Given the description of an element on the screen output the (x, y) to click on. 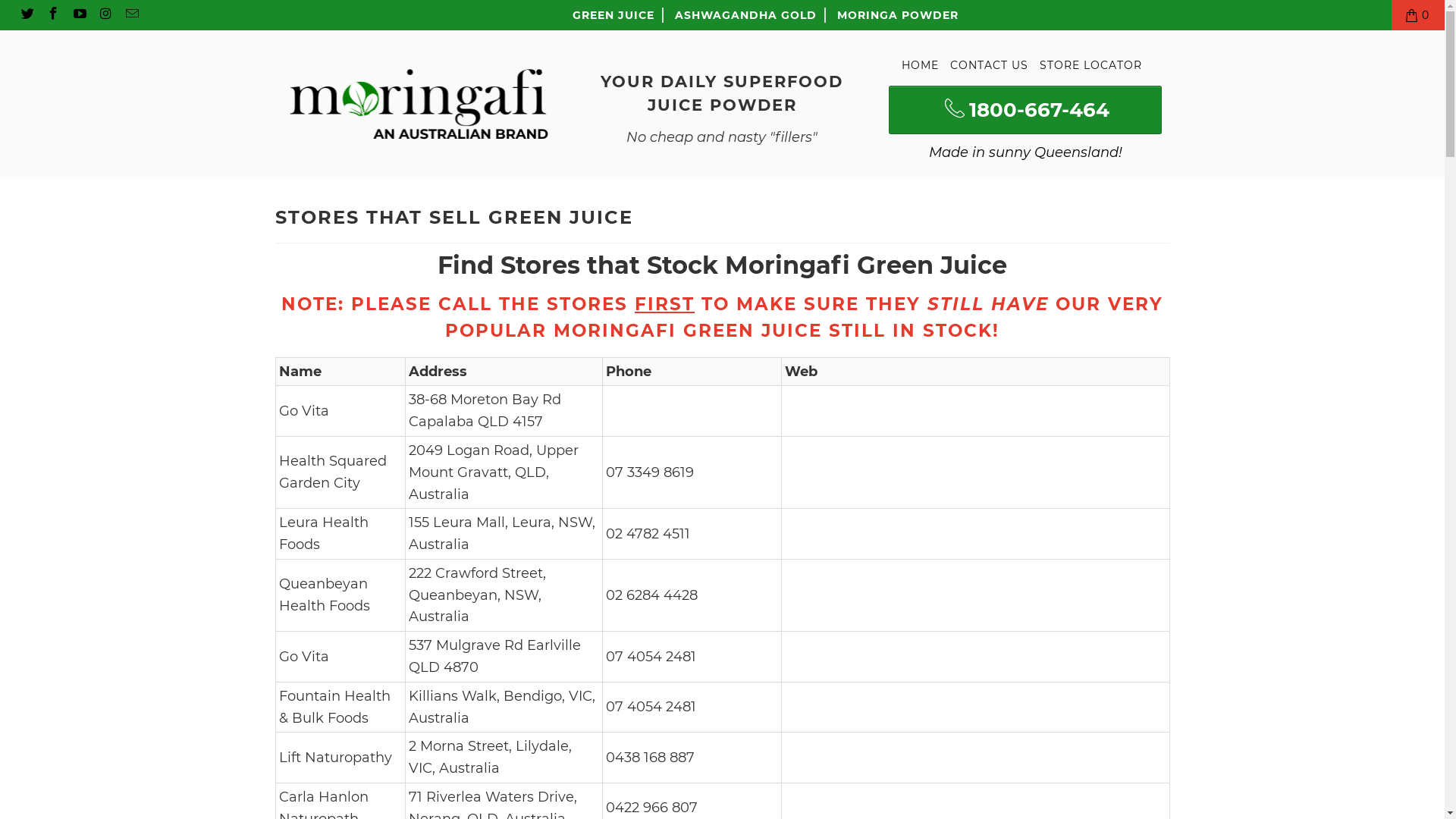
1800-667-464 Element type: text (1024, 109)
Email Moringafi Element type: hover (130, 14)
MORINGA POWDER Element type: text (897, 15)
GREEN JUICE Element type: text (613, 15)
Moringafi on Facebook Element type: hover (52, 14)
Moringafi on Twitter Element type: hover (26, 14)
ASHWAGANDHA GOLD Element type: text (745, 15)
CONTACT US Element type: text (989, 65)
Moringafi on YouTube Element type: hover (78, 14)
HOME Element type: text (919, 65)
Moringafi on Instagram Element type: hover (104, 14)
STORE LOCATOR Element type: text (1090, 65)
0 Element type: text (1417, 15)
Moringafi Element type: hover (418, 104)
